Given the description of an element on the screen output the (x, y) to click on. 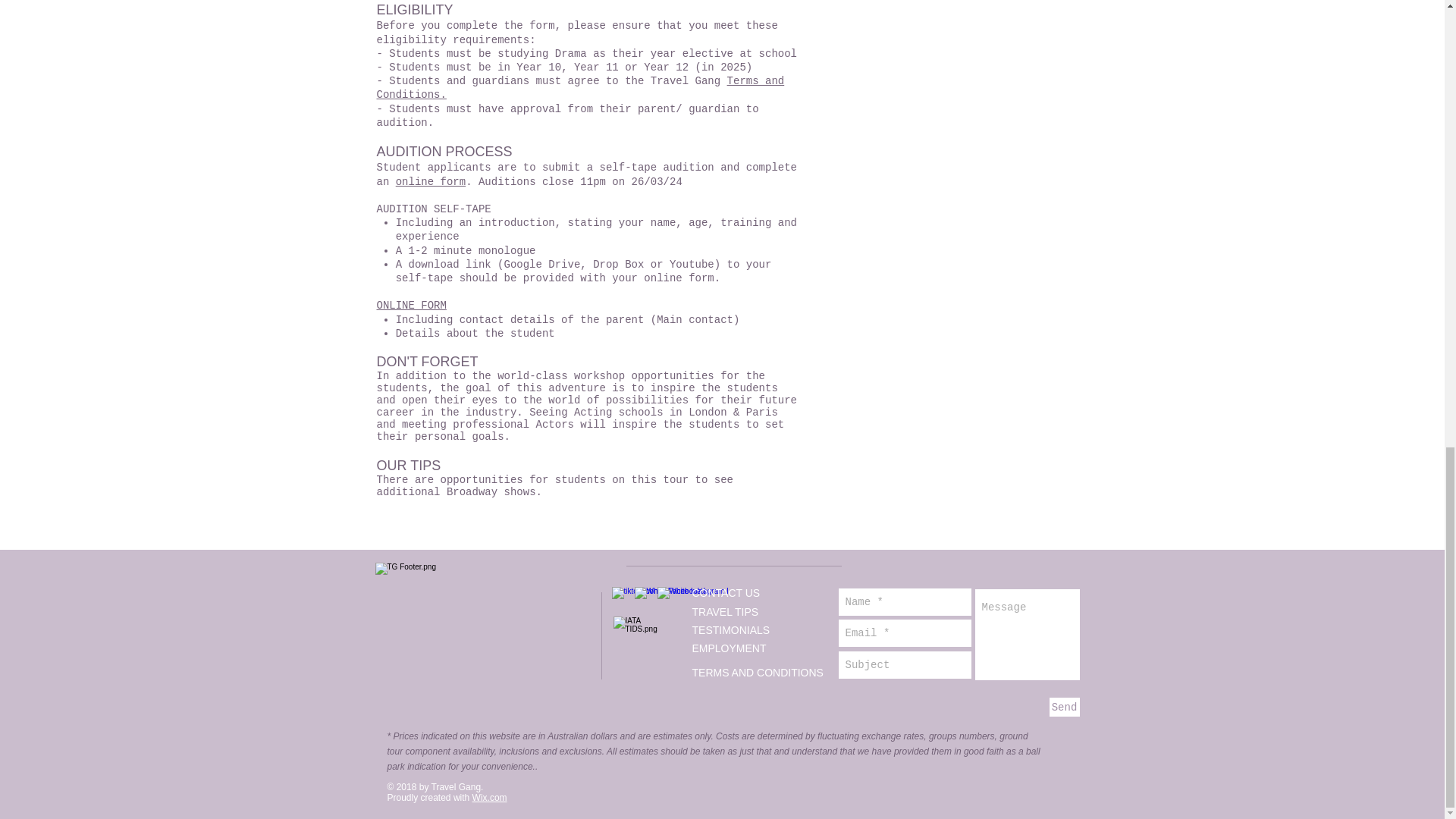
Terms and Conditions. (579, 87)
TRAVEL TIPS (724, 612)
ONLINE FORM (410, 305)
TERMS AND CONDITIONS (756, 672)
EMPLOYMENT (728, 648)
TESTIMONIALS (730, 630)
online form (430, 182)
CONTACT US (725, 592)
Wix.com (488, 797)
Send (1064, 706)
